Given the description of an element on the screen output the (x, y) to click on. 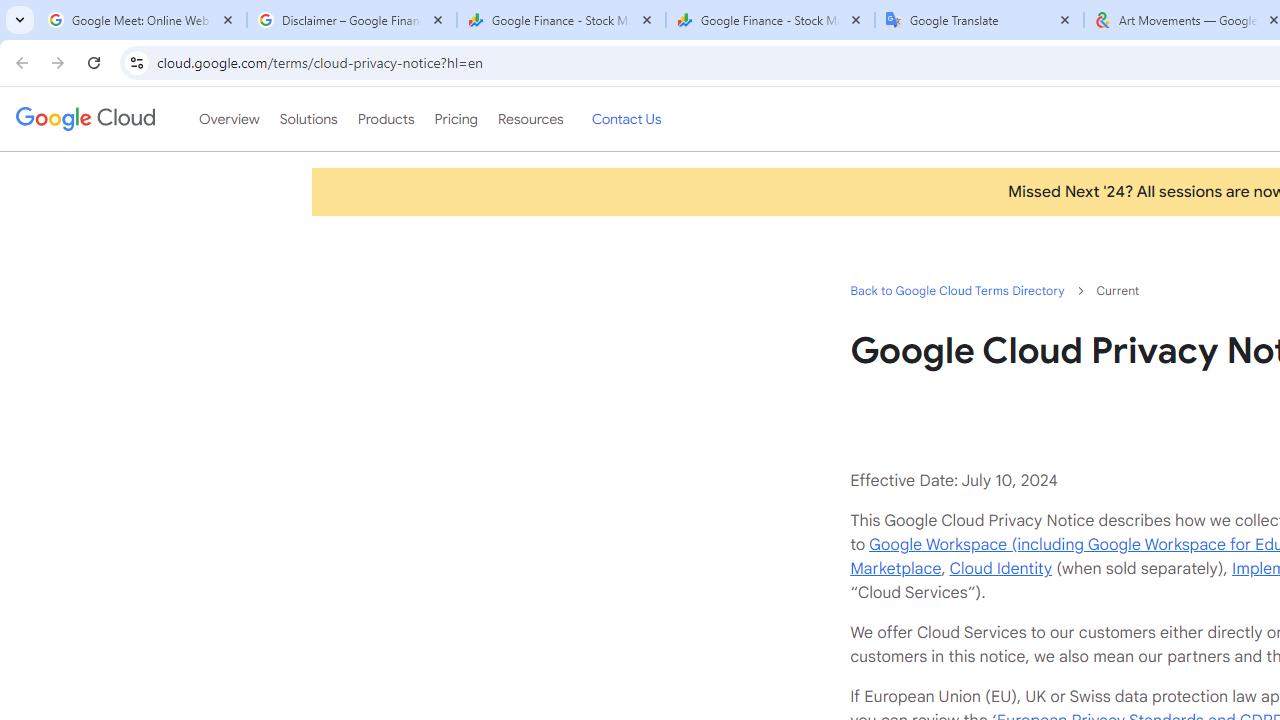
Solutions (308, 119)
